Given the description of an element on the screen output the (x, y) to click on. 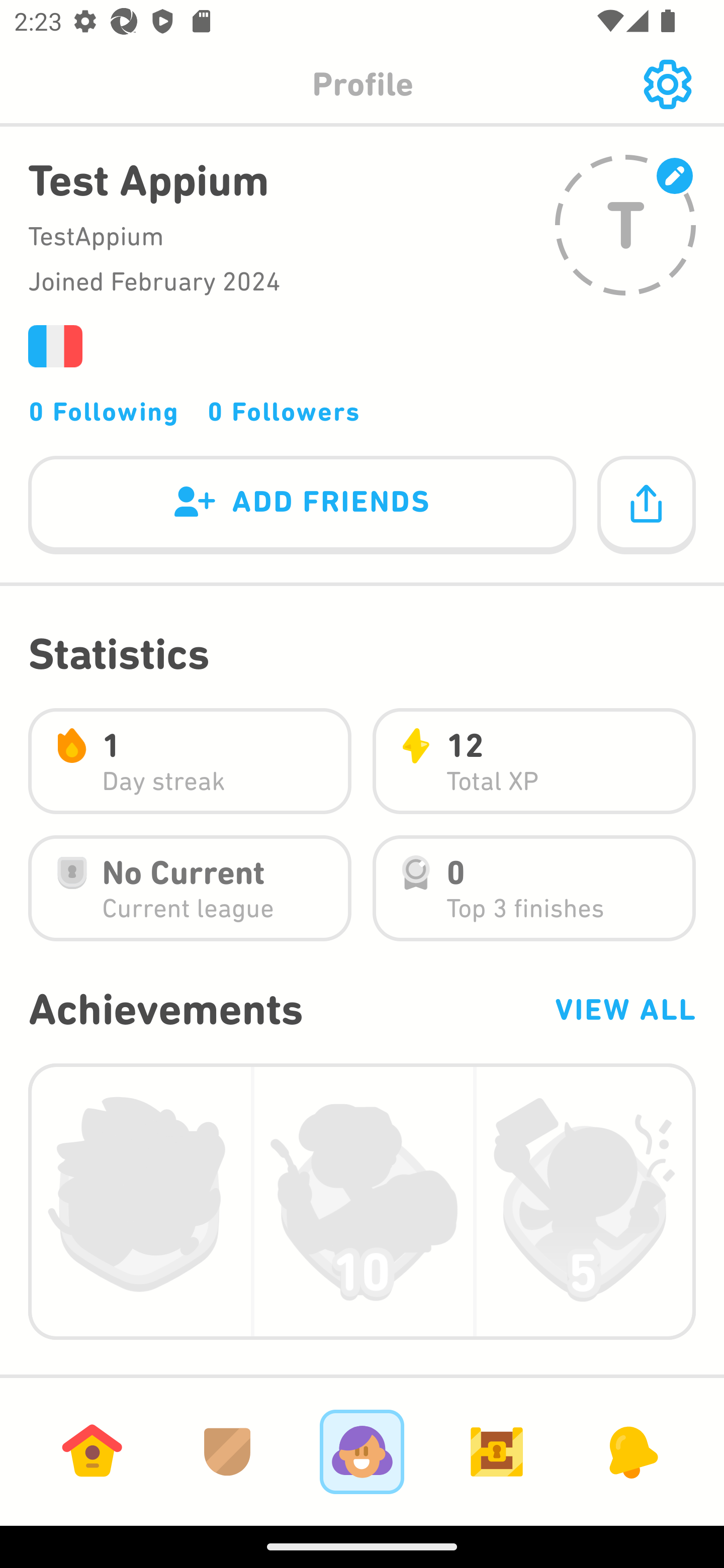
Settings (667, 84)
0 Following (103, 411)
0 Followers (283, 411)
ADD FRIENDS (302, 505)
1 Day streak (189, 760)
VIEW ALL (624, 1009)
Learn Tab (91, 1451)
Leagues Tab (227, 1451)
Profile Tab (361, 1451)
Goals Tab (496, 1451)
News Tab (631, 1451)
